Given the description of an element on the screen output the (x, y) to click on. 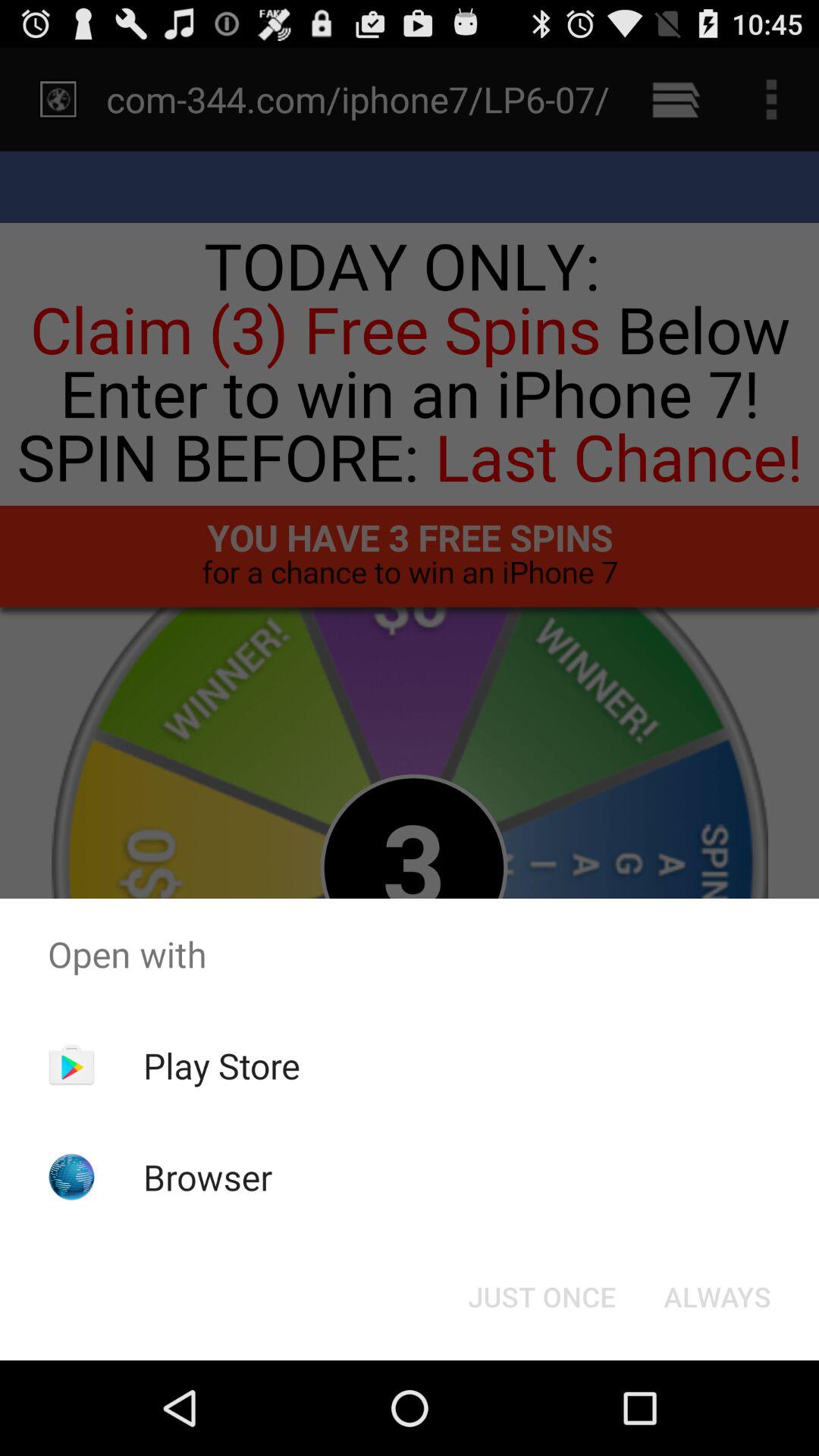
flip to play store item (221, 1065)
